Given the description of an element on the screen output the (x, y) to click on. 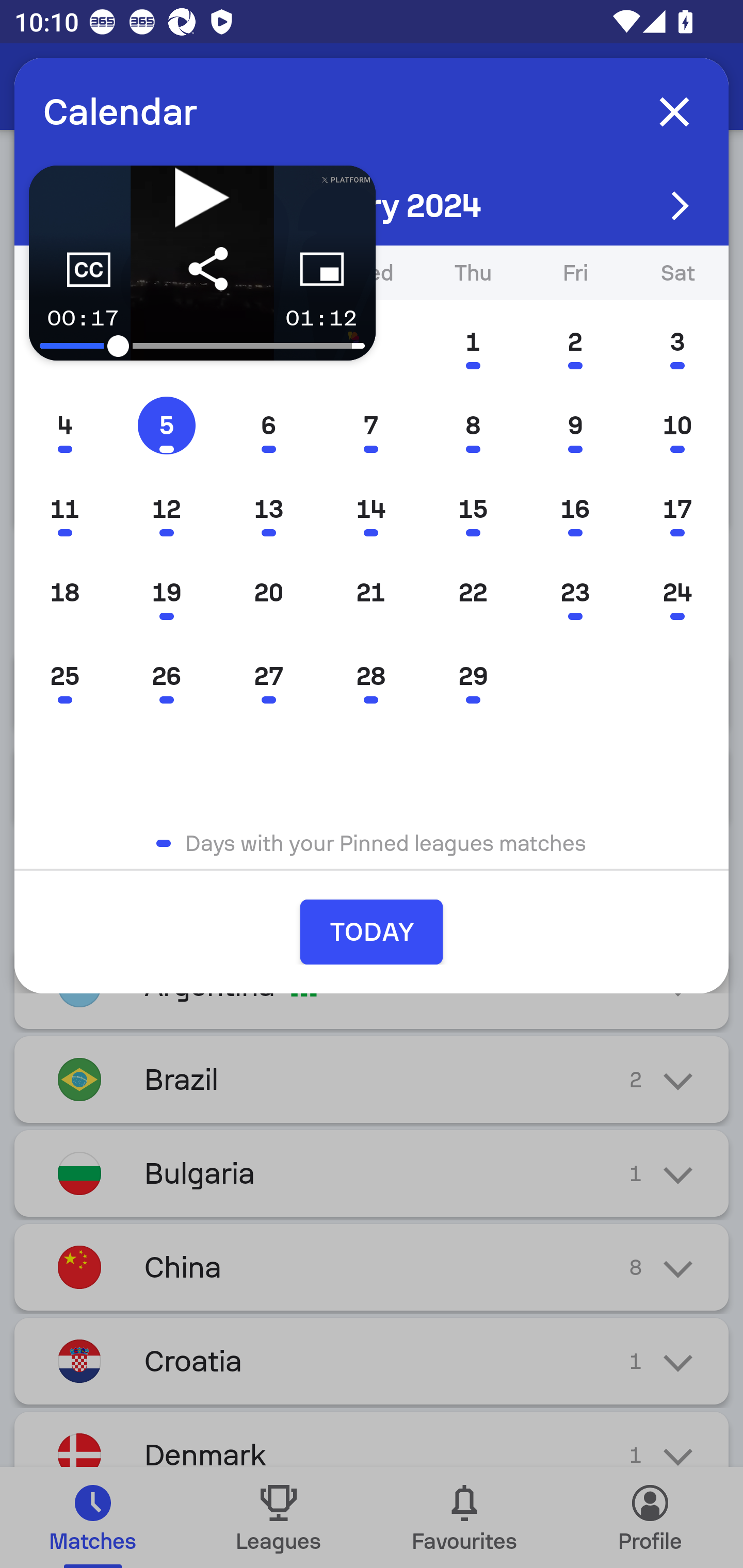
1 (473, 341)
2 (575, 341)
3 (677, 341)
4 (64, 425)
5 (166, 425)
6 (268, 425)
7 (371, 425)
8 (473, 425)
9 (575, 425)
10 (677, 425)
11 (64, 508)
12 (166, 508)
13 (268, 508)
14 (371, 508)
15 (473, 508)
16 (575, 508)
17 (677, 508)
18 (64, 592)
19 (166, 592)
20 (268, 592)
21 (371, 592)
22 (473, 592)
23 (575, 592)
24 (677, 592)
25 (64, 676)
26 (166, 676)
27 (268, 676)
28 (371, 676)
29 (473, 676)
TODAY (371, 932)
